Given the description of an element on the screen output the (x, y) to click on. 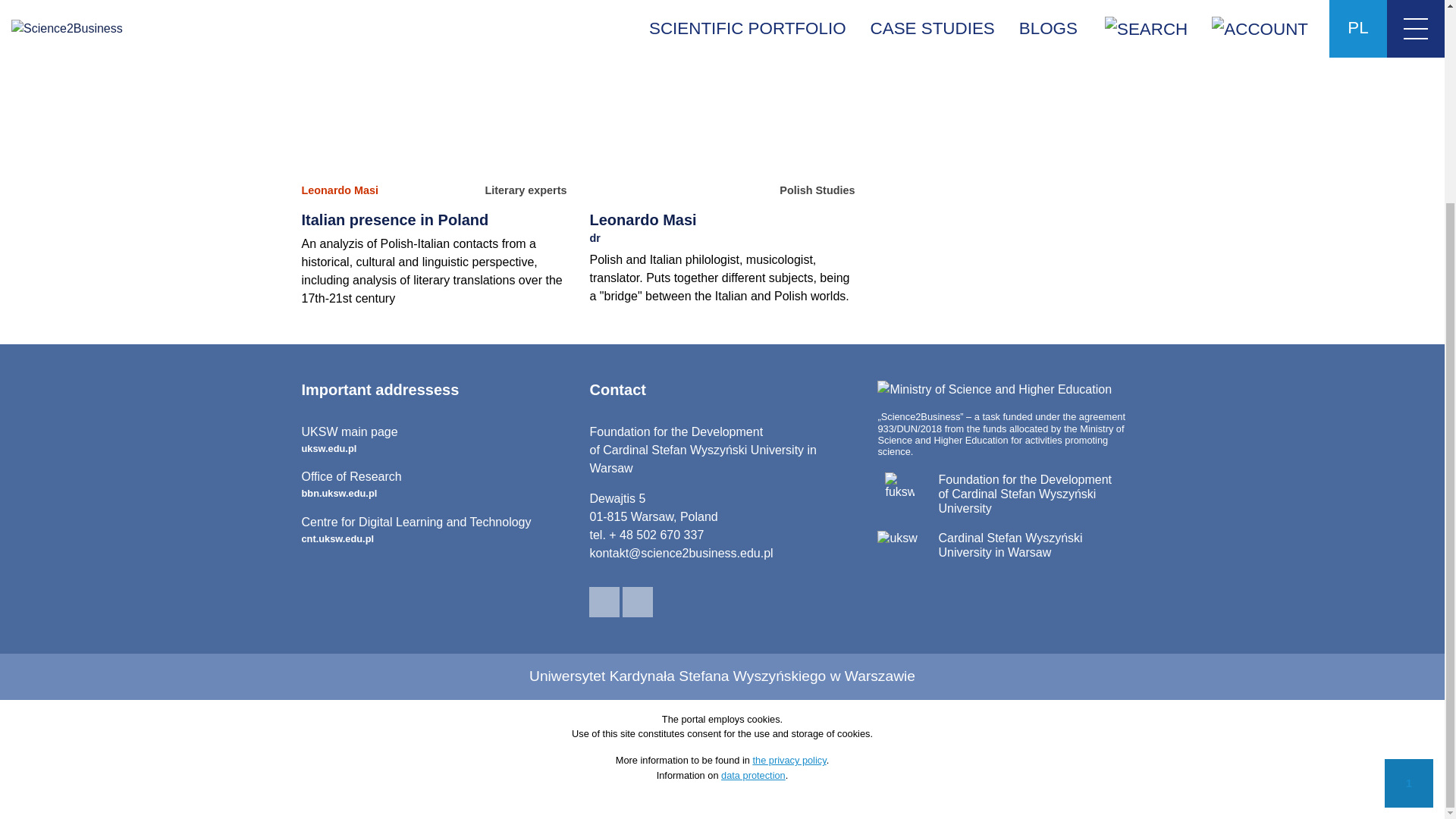
Polish Studies (816, 190)
the privacy policy (788, 759)
literary experts (434, 440)
Leonardo Masi (525, 190)
data protection (339, 190)
1 (434, 530)
